Given the description of an element on the screen output the (x, y) to click on. 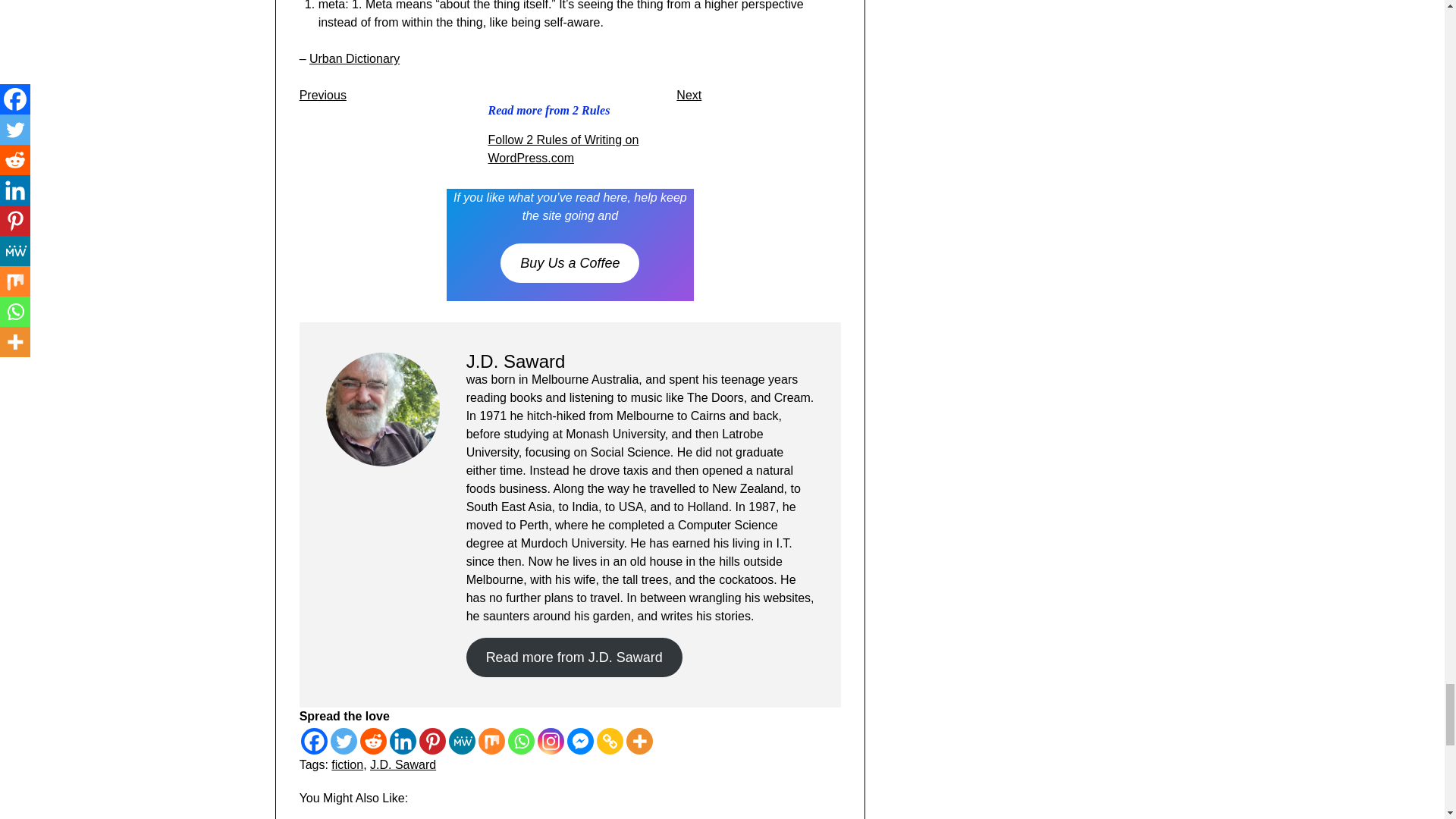
Twitter (343, 741)
Next (689, 94)
Follow 2 Rules of Writing on WordPress.com (563, 148)
Previous (322, 94)
Whatsapp (521, 741)
Mix (492, 741)
Instagram (550, 741)
Reddit (373, 741)
Urban Dictionary (353, 58)
Pinterest (432, 741)
Read more from J.D. Saward (573, 657)
Copy Link (609, 741)
Facebook (314, 741)
Buy Us a Coffee (569, 262)
Linkedin (403, 741)
